Given the description of an element on the screen output the (x, y) to click on. 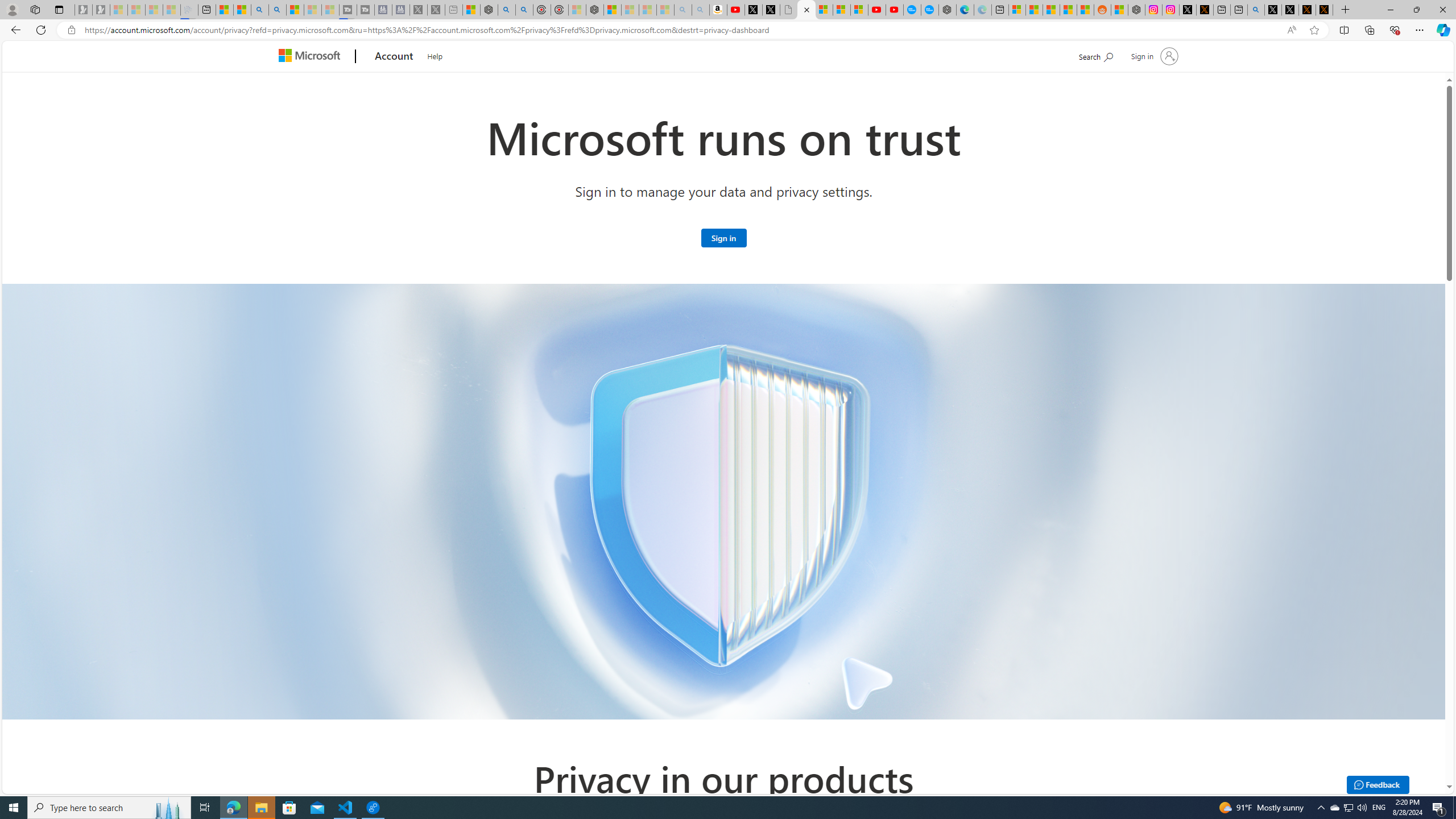
Gloom - YouTube (877, 9)
Help (435, 54)
Microsoft account | Microsoft Account Privacy Settings (1016, 9)
Amazon Echo Dot PNG - Search Images - Sleeping (700, 9)
GitHub (@github) / X (1289, 9)
